Given the description of an element on the screen output the (x, y) to click on. 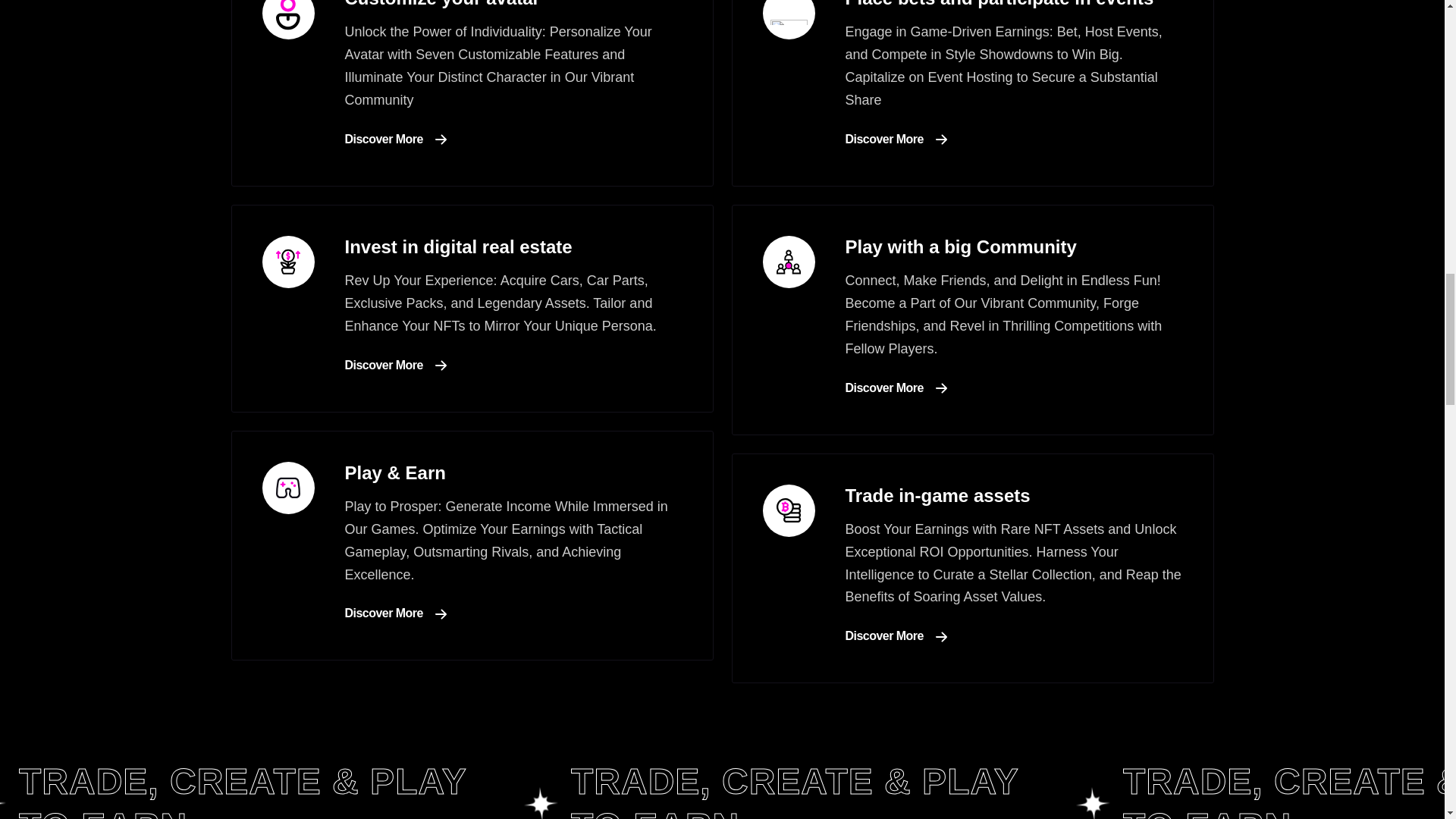
Discover More (394, 613)
Discover More (895, 388)
Discover More (895, 139)
Discover More (394, 365)
Discover More (394, 139)
Discover More (895, 636)
